Given the description of an element on the screen output the (x, y) to click on. 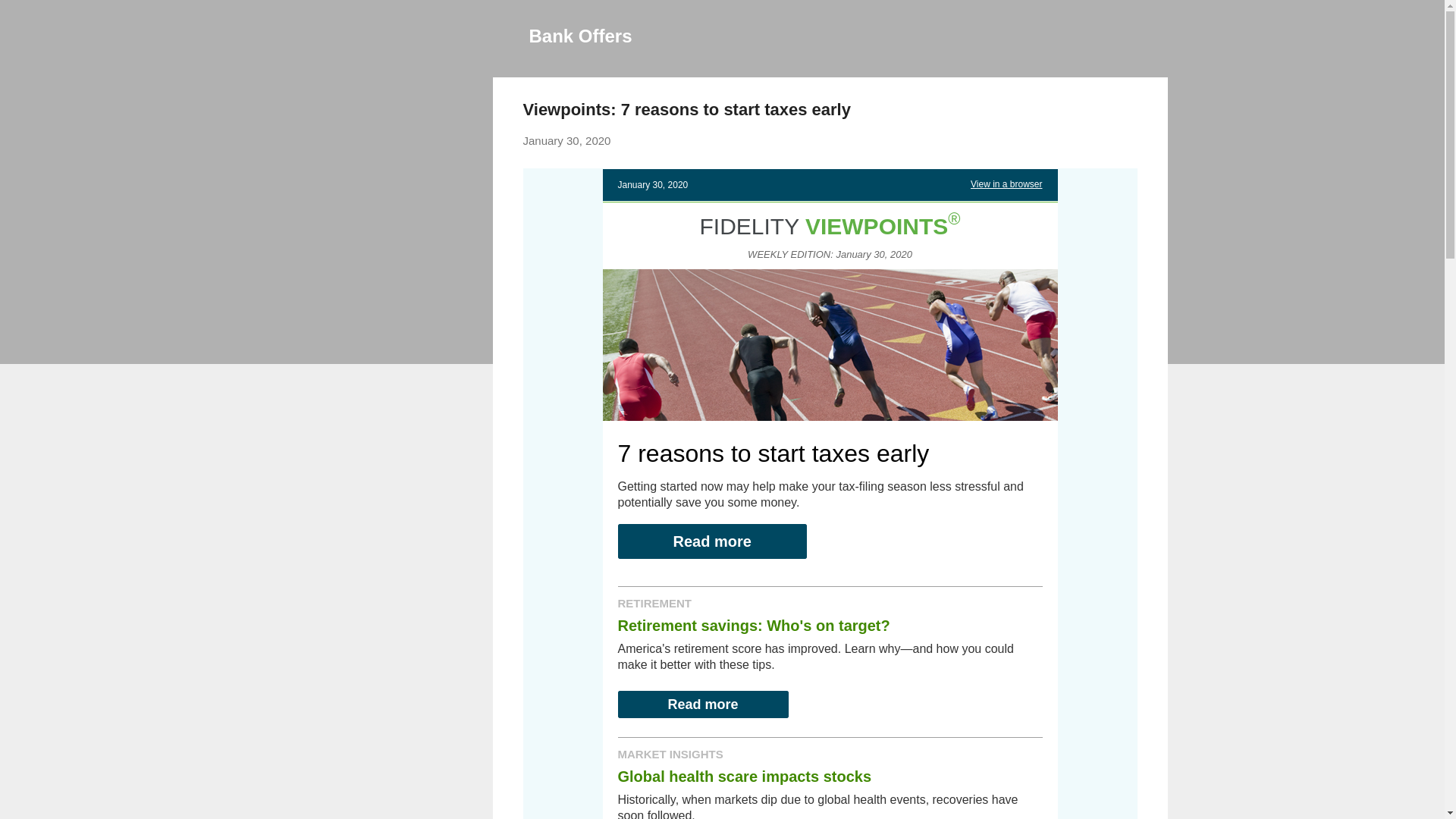
Bank Offers (580, 35)
Read More (702, 703)
Read more (702, 703)
Read more (711, 540)
View in a browser (1006, 184)
7 reasons to start taxes early (772, 452)
Retirement savings: Who's on target? (753, 625)
FIDELITY VIEWPOINTS (822, 226)
7 reasons to start taxes early (772, 452)
Global health scare impacts stocks (743, 775)
